Given the description of an element on the screen output the (x, y) to click on. 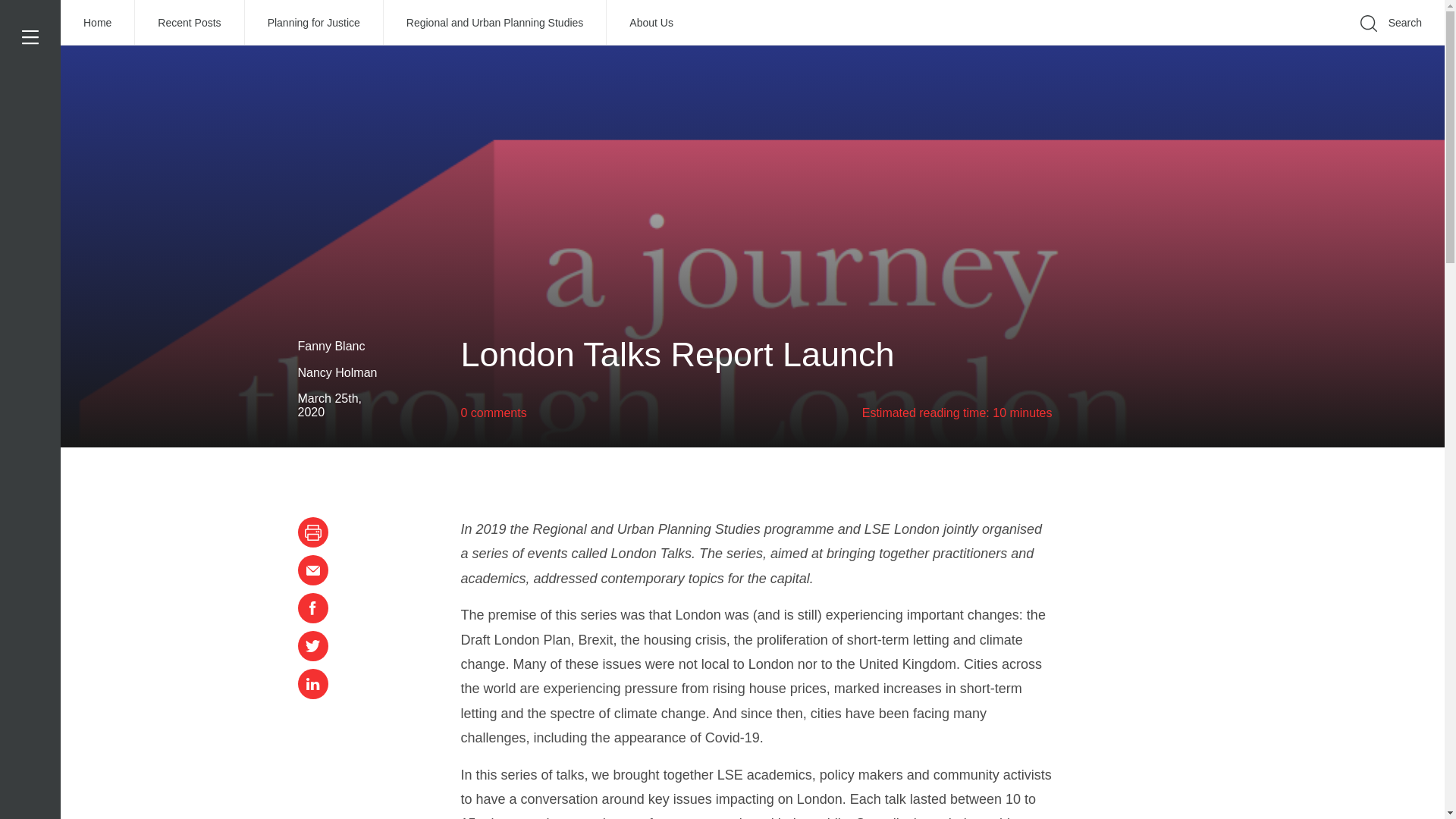
Regional and Urban Planning Studies (495, 22)
Recent Posts (189, 22)
0 comments (494, 412)
Home (98, 22)
About Us (651, 22)
Planning for Justice (314, 22)
Go (1190, 44)
